Given the description of an element on the screen output the (x, y) to click on. 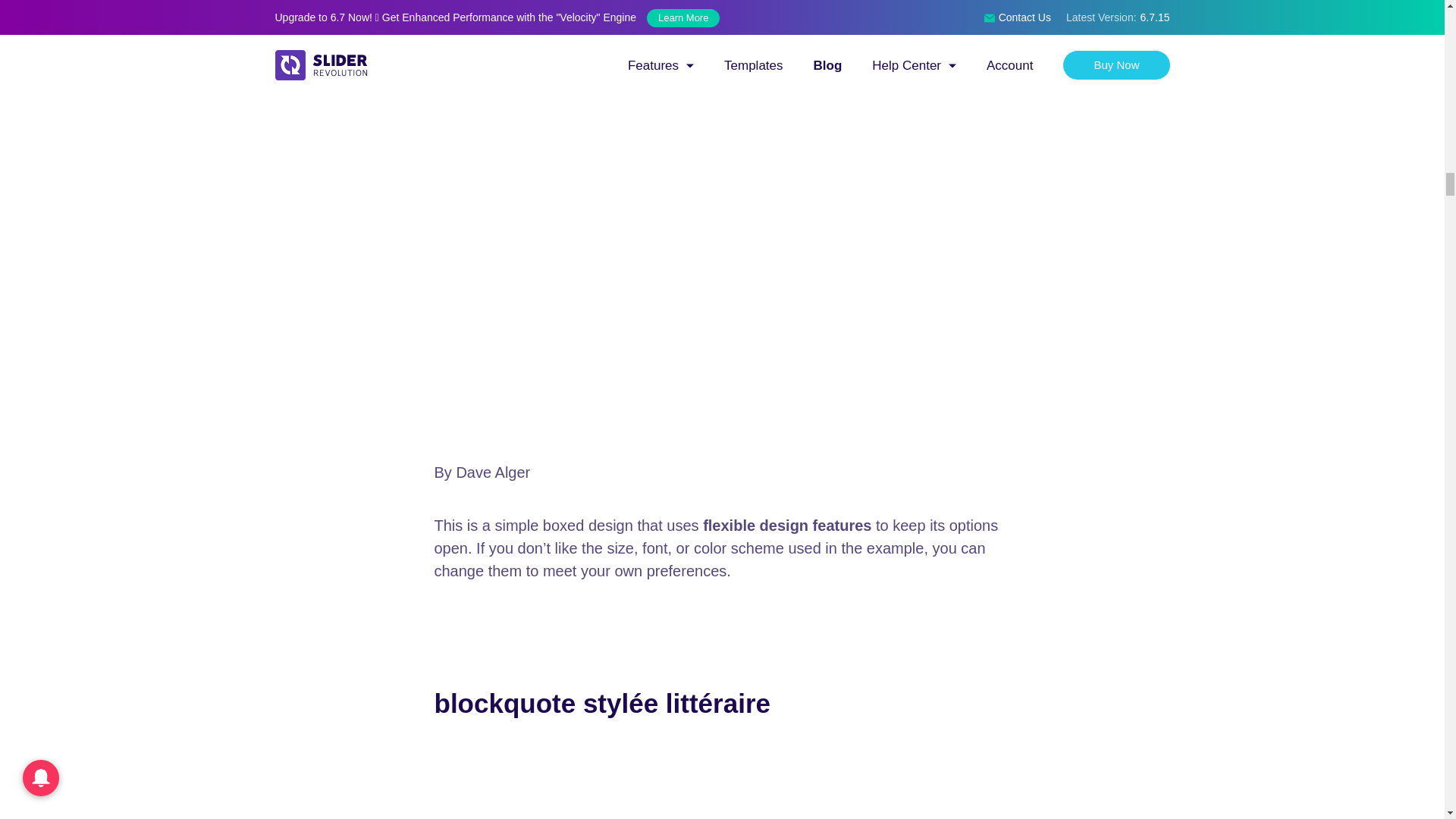
CodePen Embed nrOPdQ (721, 780)
